Given the description of an element on the screen output the (x, y) to click on. 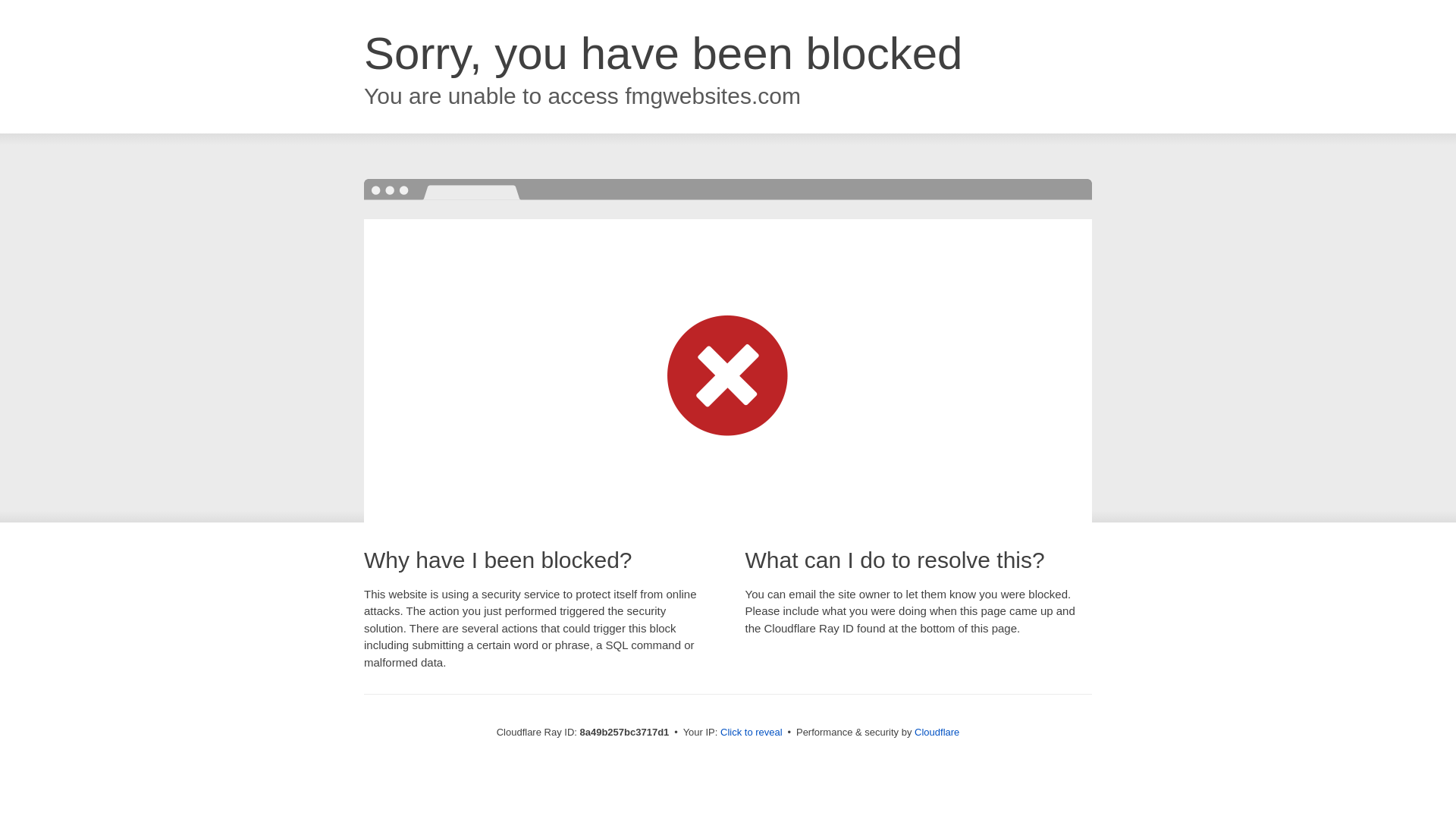
Click to reveal (751, 732)
Cloudflare (936, 731)
